Given the description of an element on the screen output the (x, y) to click on. 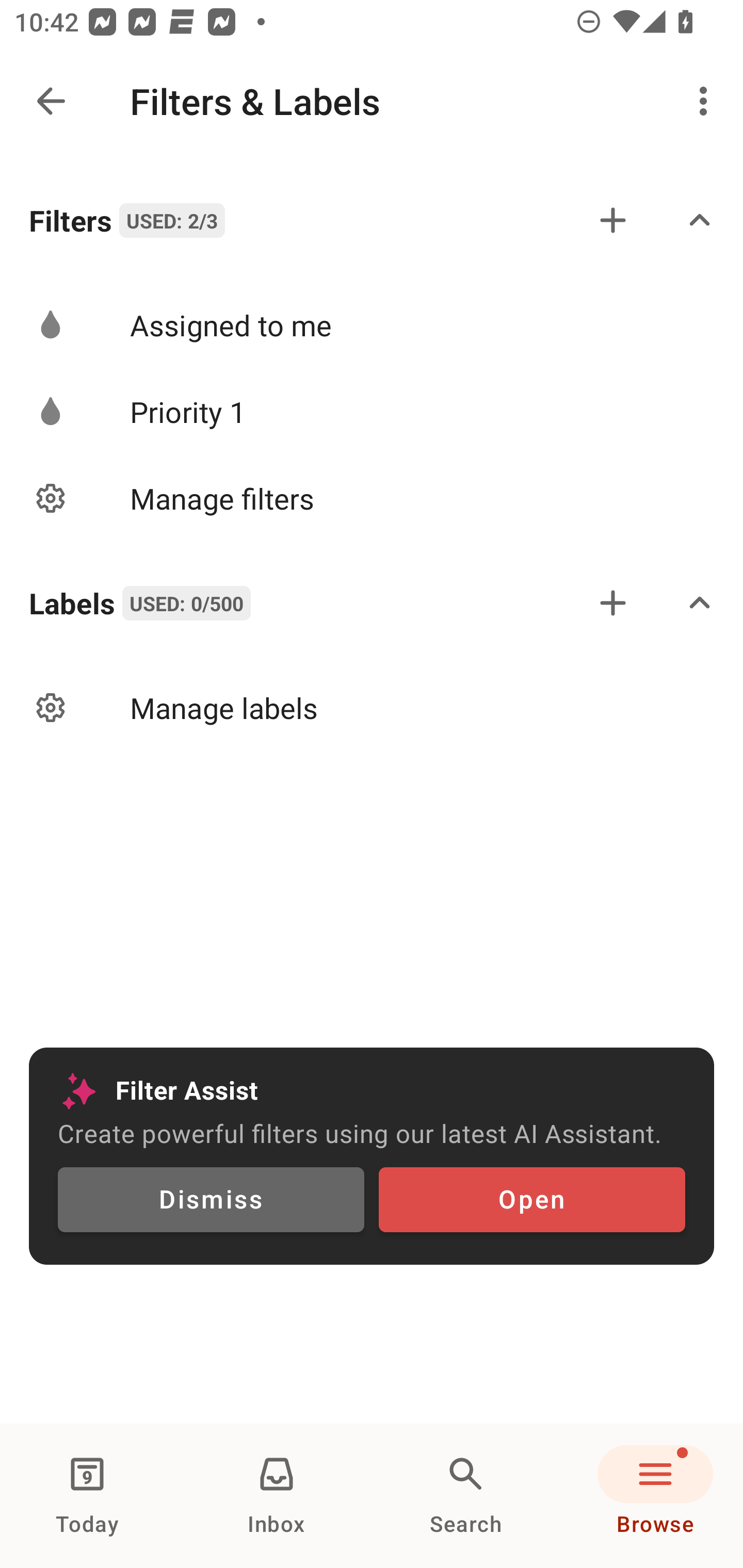
Navigate up Filters & Labels More options (371, 100)
Navigate up (50, 101)
More options (706, 101)
Filters USED: 2/3 Add Expand/collapse (371, 220)
Add (612, 220)
Assigned to me (371, 325)
Priority 1 (371, 411)
Manage filters (371, 497)
Labels USED: 0/500 Add Expand/collapse (371, 602)
Add (612, 602)
Manage labels (371, 707)
Dismiss (210, 1200)
Open (531, 1200)
Today (87, 1495)
Inbox (276, 1495)
Search (465, 1495)
